Given the description of an element on the screen output the (x, y) to click on. 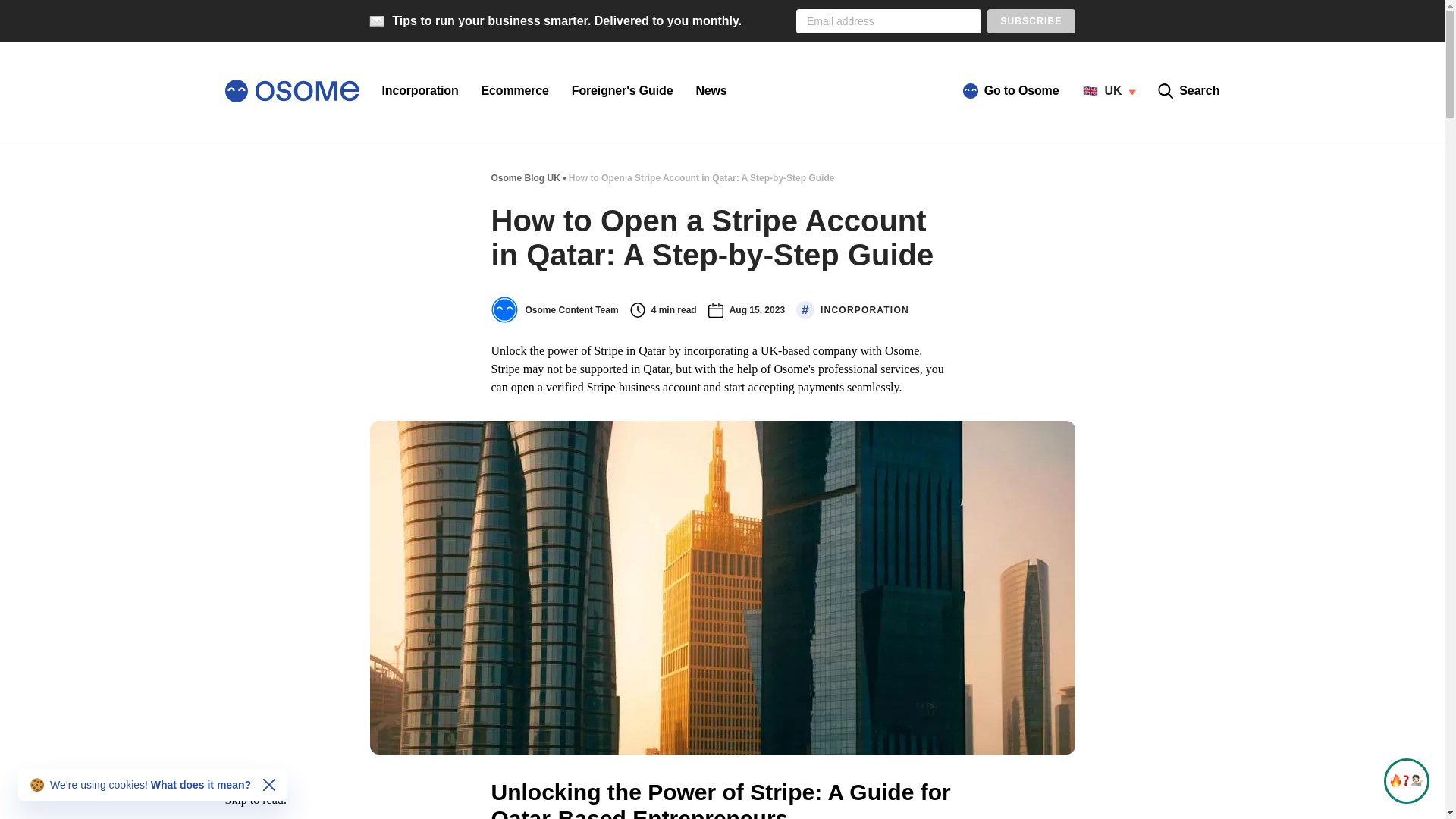
Osome Blog UK (526, 177)
Search (1188, 90)
Go to Osome (1010, 90)
Ecommerce (514, 90)
Osome Content Team (555, 309)
Got a burning question? (1406, 780)
Foreigner's Guide (622, 90)
News (710, 90)
Incorporation (419, 90)
